Given the description of an element on the screen output the (x, y) to click on. 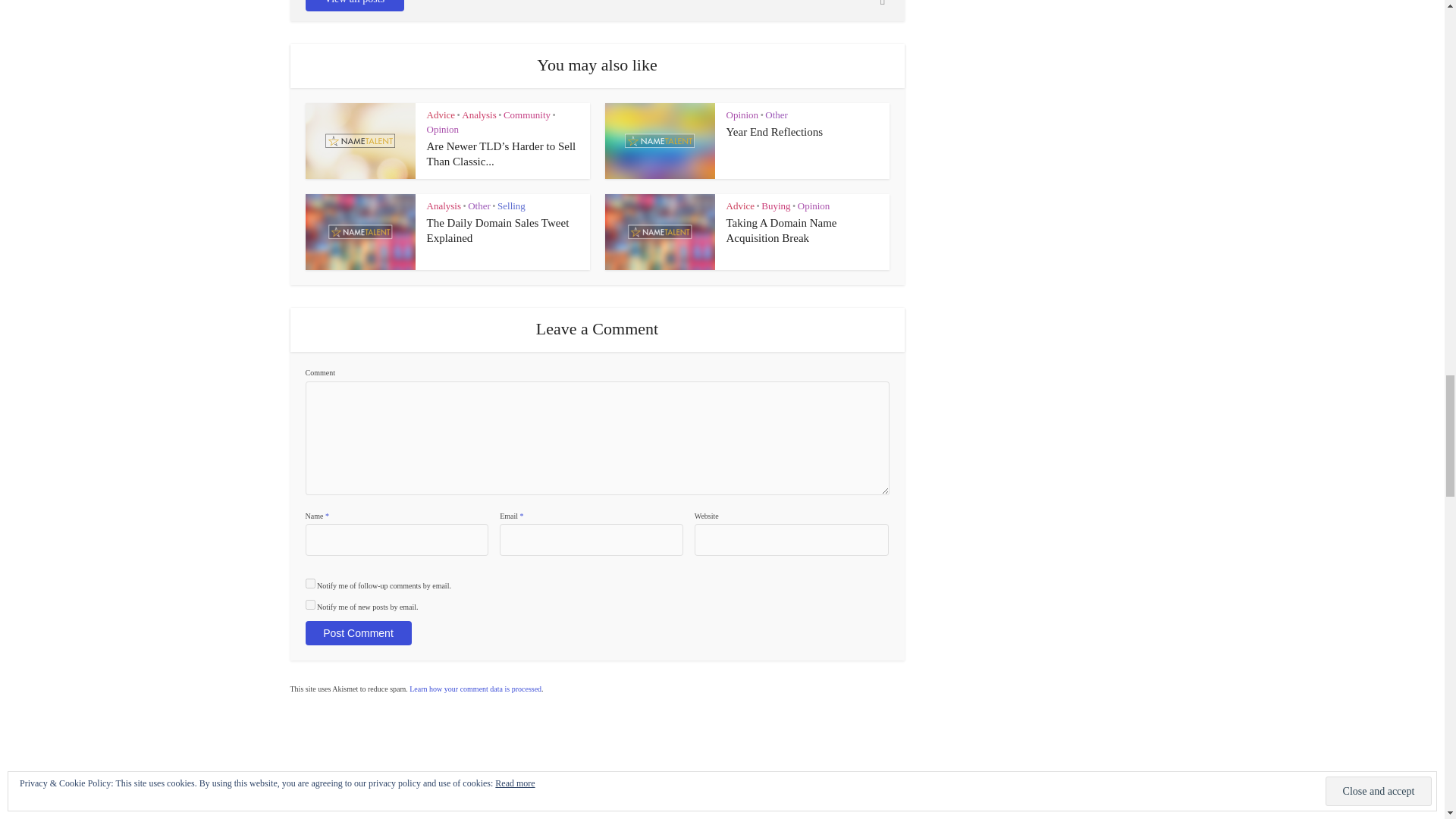
subscribe (309, 604)
The Daily Domain Sales Tweet Explained (497, 230)
subscribe (309, 583)
Post Comment (357, 632)
Year End Reflections (775, 132)
Taking A Domain Name Acquisition Break (781, 230)
